Given the description of an element on the screen output the (x, y) to click on. 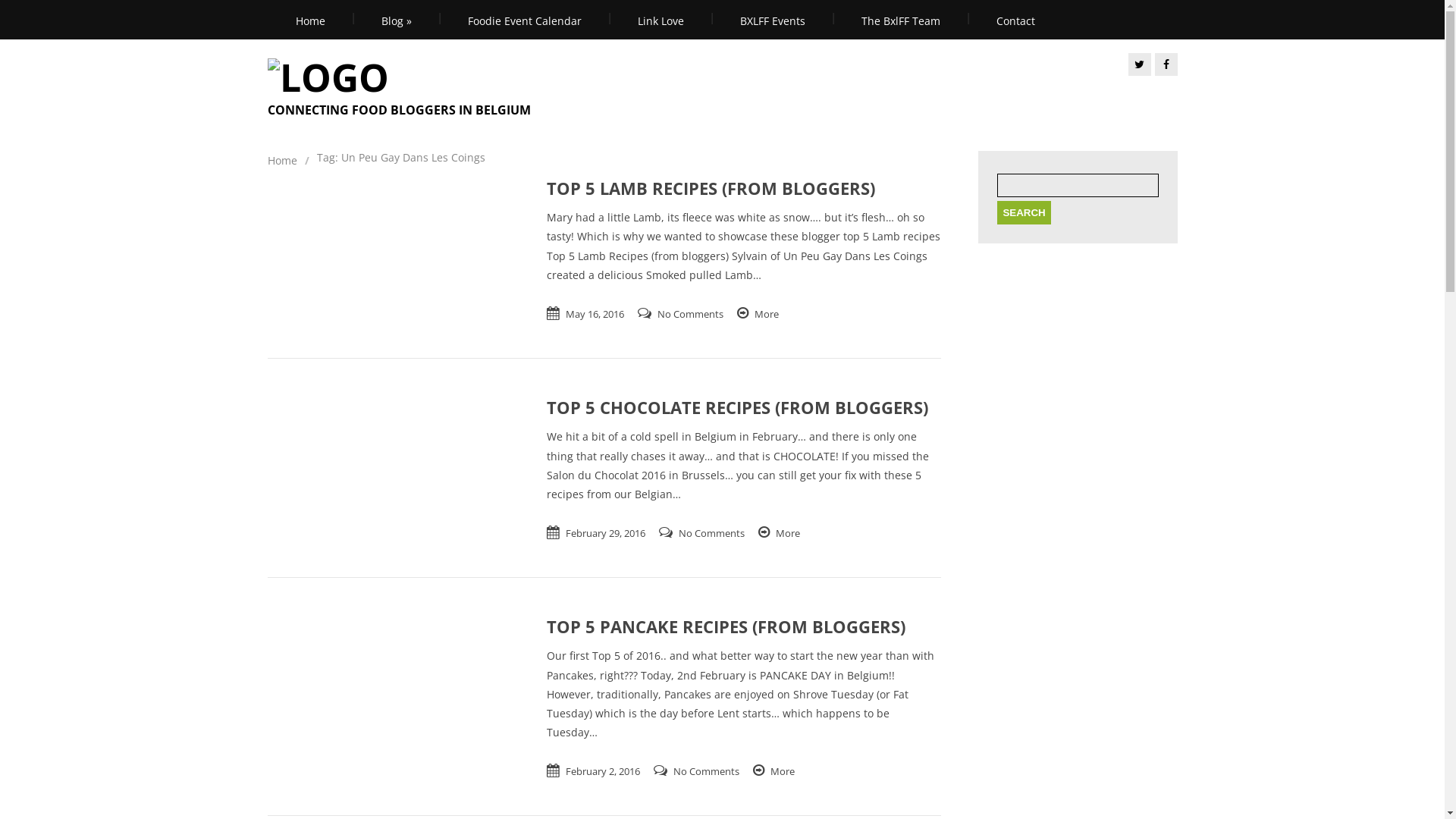
No Comments Element type: text (706, 771)
More Element type: text (782, 771)
Search Element type: text (1023, 212)
February 29, 2016 Element type: text (605, 532)
More Element type: text (787, 532)
Foodie Event Calendar Element type: text (524, 19)
May 16, 2016 Element type: text (594, 313)
BXLFF Events Element type: text (771, 19)
TOP 5 PANCAKE RECIPES (FROM BLOGGERS) Element type: text (721, 630)
Home Element type: text (281, 160)
No Comments Element type: text (711, 532)
Twitter Element type: hover (1139, 64)
Facebook Element type: hover (1165, 64)
Home Element type: text (309, 19)
February 2, 2016 Element type: text (602, 771)
More Element type: text (766, 313)
Link Love Element type: text (660, 19)
Contact Element type: text (1014, 19)
TOP 5 LAMB RECIPES (FROM BLOGGERS) Element type: text (721, 192)
The BxlFF Team Element type: text (899, 19)
No Comments Element type: text (690, 313)
TOP 5 CHOCOLATE RECIPES (FROM BLOGGERS) Element type: text (721, 411)
